Given the description of an element on the screen output the (x, y) to click on. 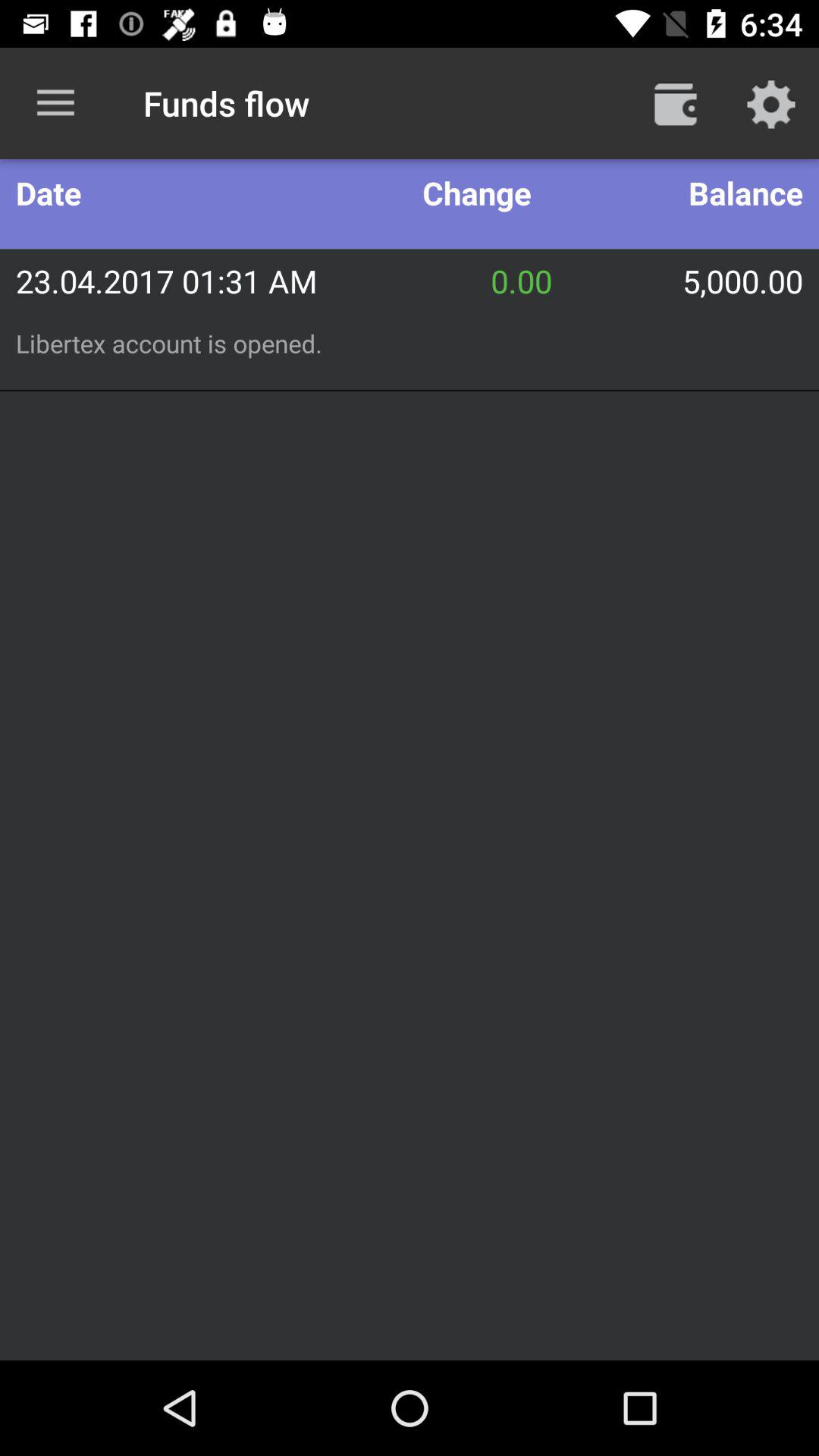
delete option (675, 103)
